Given the description of an element on the screen output the (x, y) to click on. 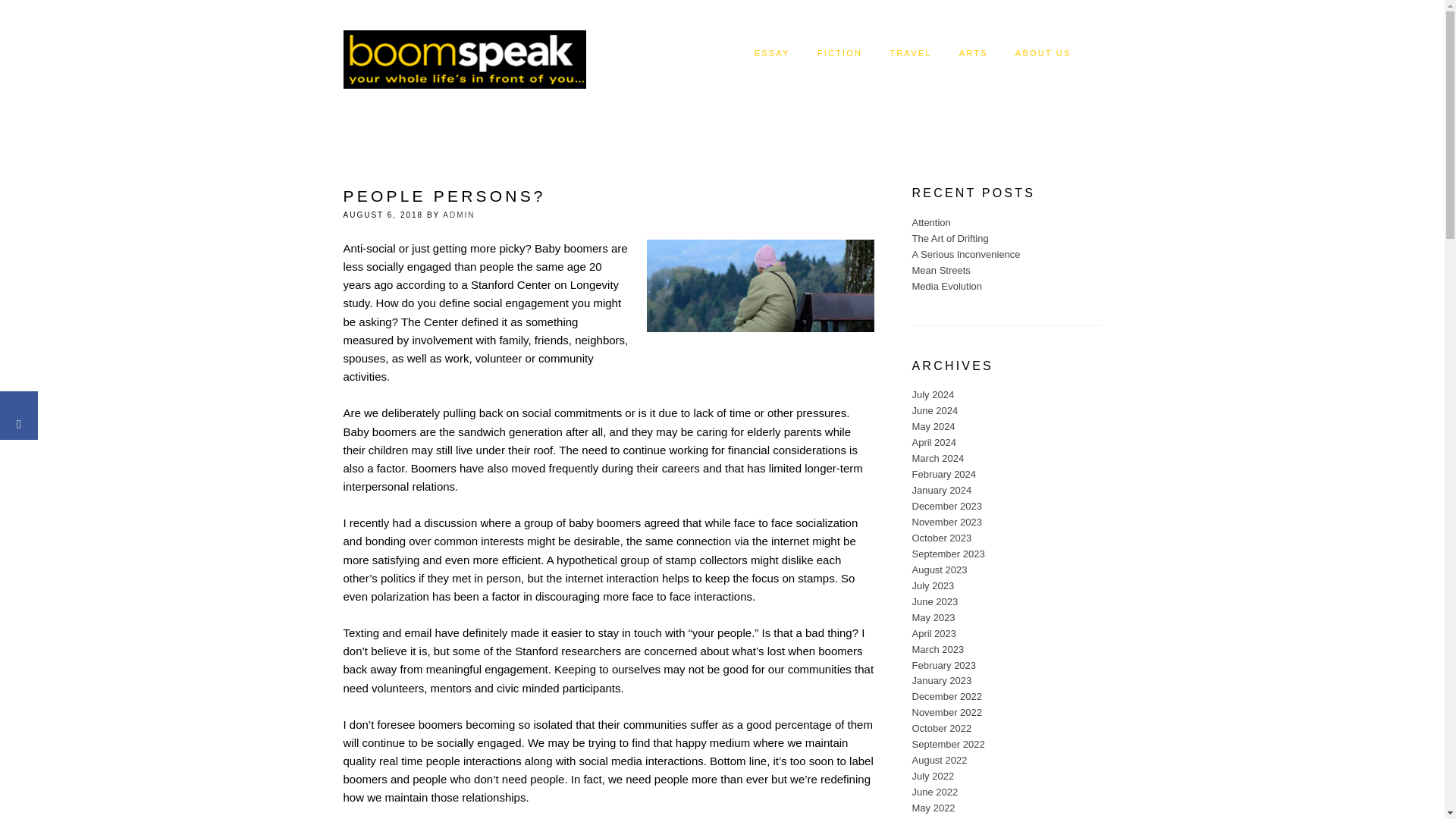
April 2024 (933, 441)
Media Evolution (946, 285)
BOOMSPEAK (463, 53)
Attention (930, 222)
ABOUT US (1042, 53)
May 2024 (933, 426)
A Serious Inconvenience (965, 254)
July 2023 (932, 585)
February 2024 (943, 473)
Mean Streets (940, 270)
March 2024 (937, 458)
August 2023 (938, 569)
The Art of Drifting (949, 238)
October 2023 (941, 537)
ADMIN (458, 214)
